Given the description of an element on the screen output the (x, y) to click on. 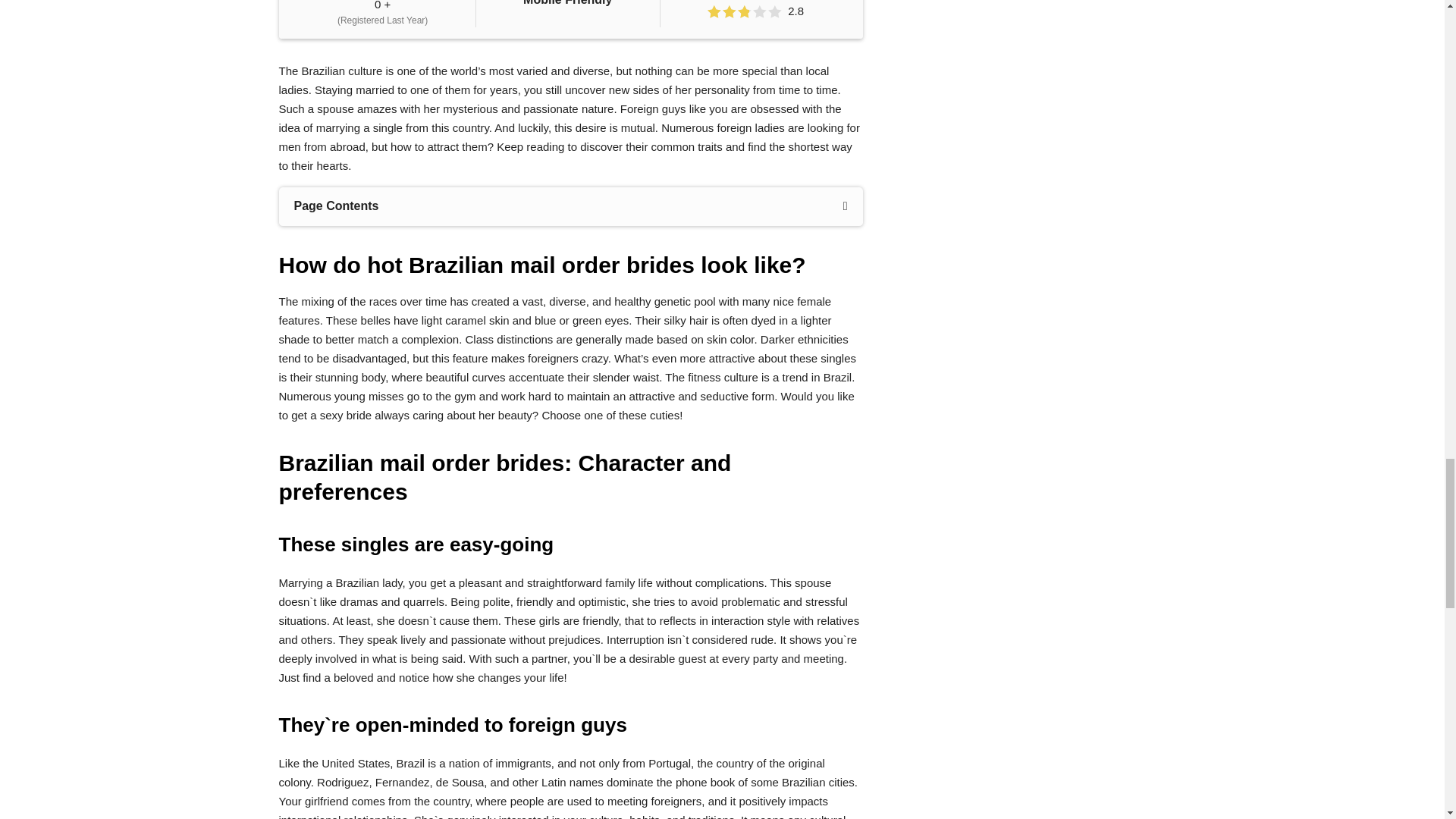
Our Score (744, 11)
